Given the description of an element on the screen output the (x, y) to click on. 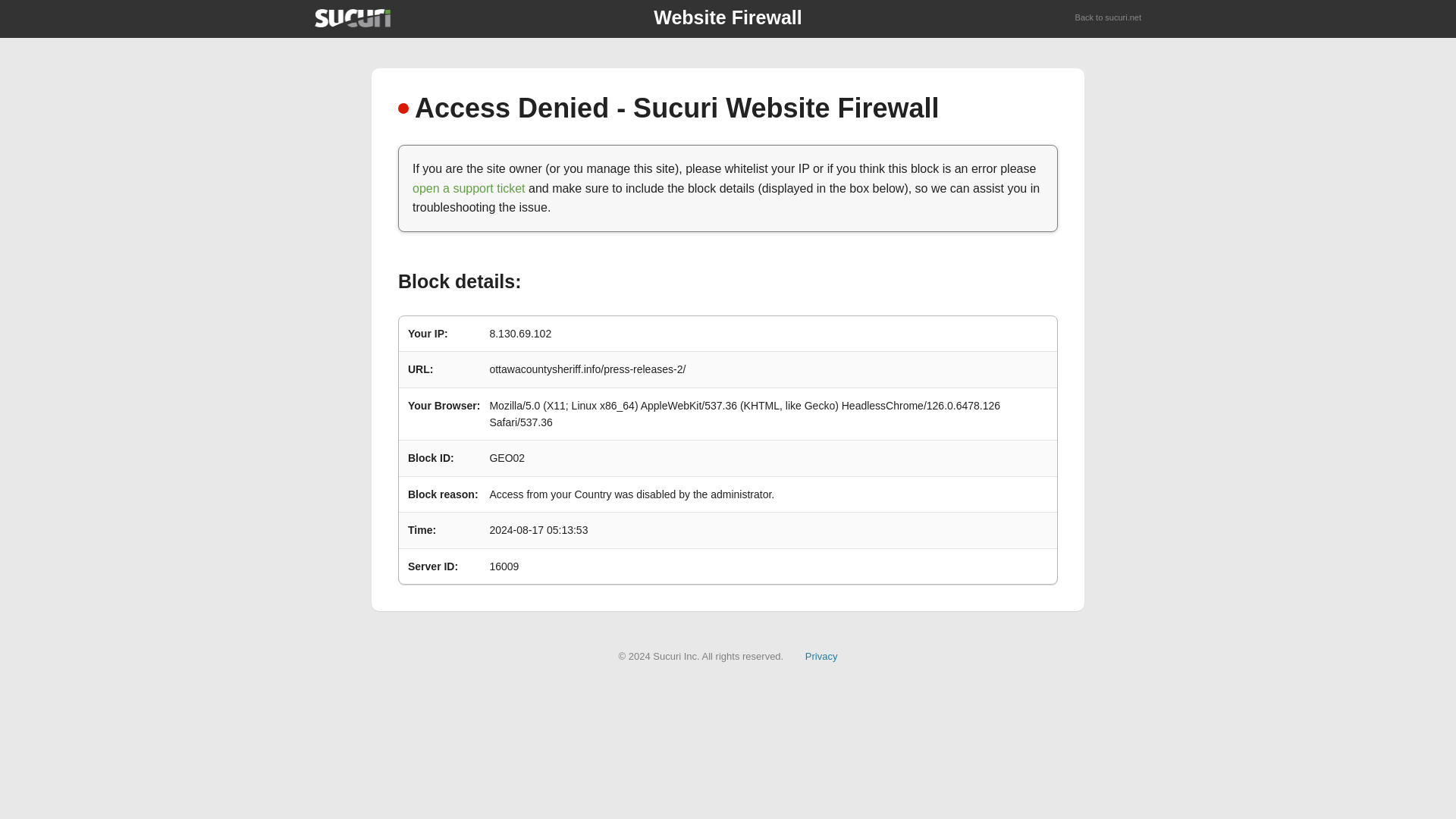
Back to sucuri.net (1108, 18)
open a support ticket (468, 187)
Privacy (821, 655)
